Given the description of an element on the screen output the (x, y) to click on. 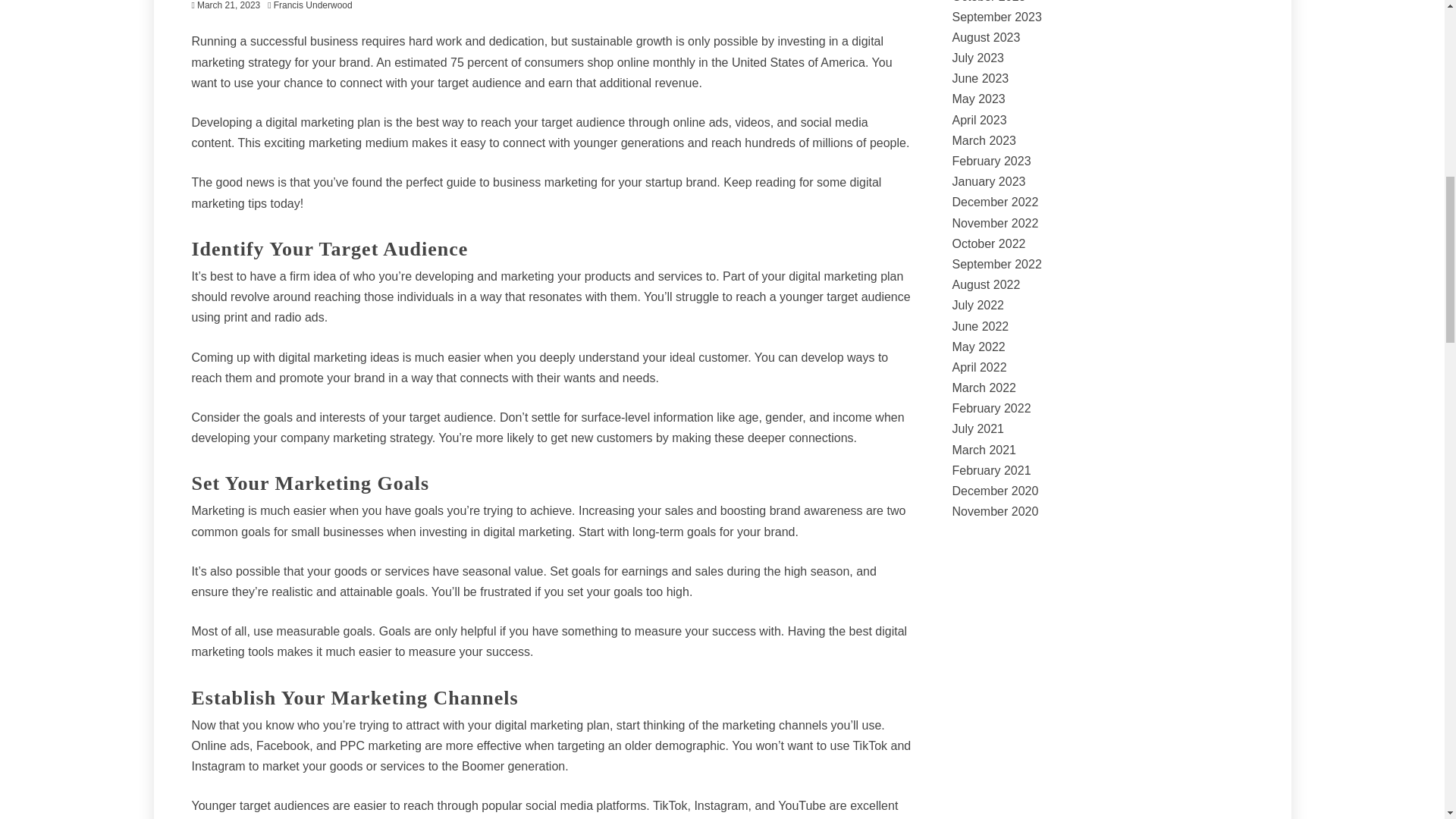
March 21, 2023 (228, 5)
Francis Underwood (316, 5)
